Given the description of an element on the screen output the (x, y) to click on. 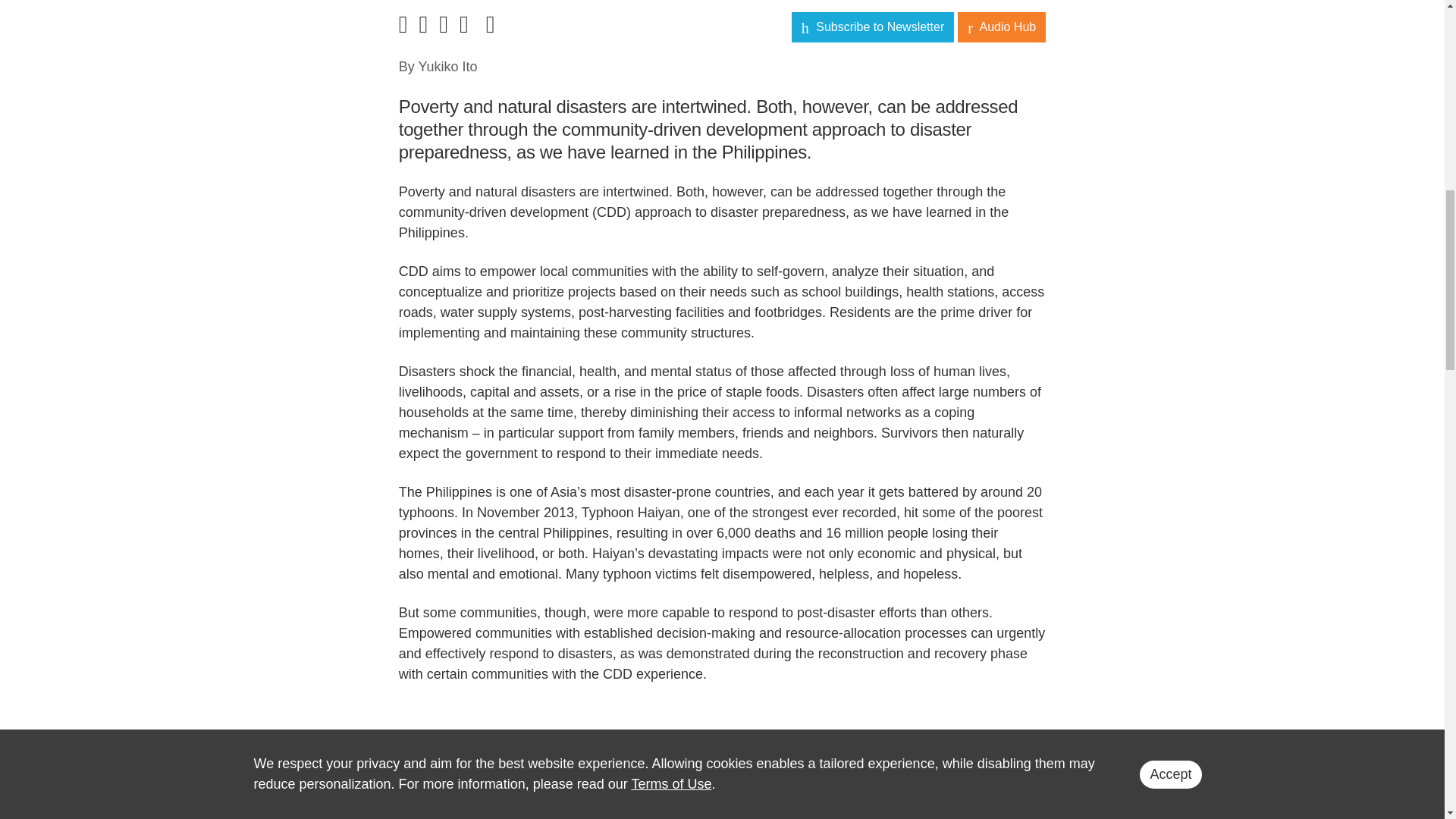
Print-friendly version (467, 28)
